Given the description of an element on the screen output the (x, y) to click on. 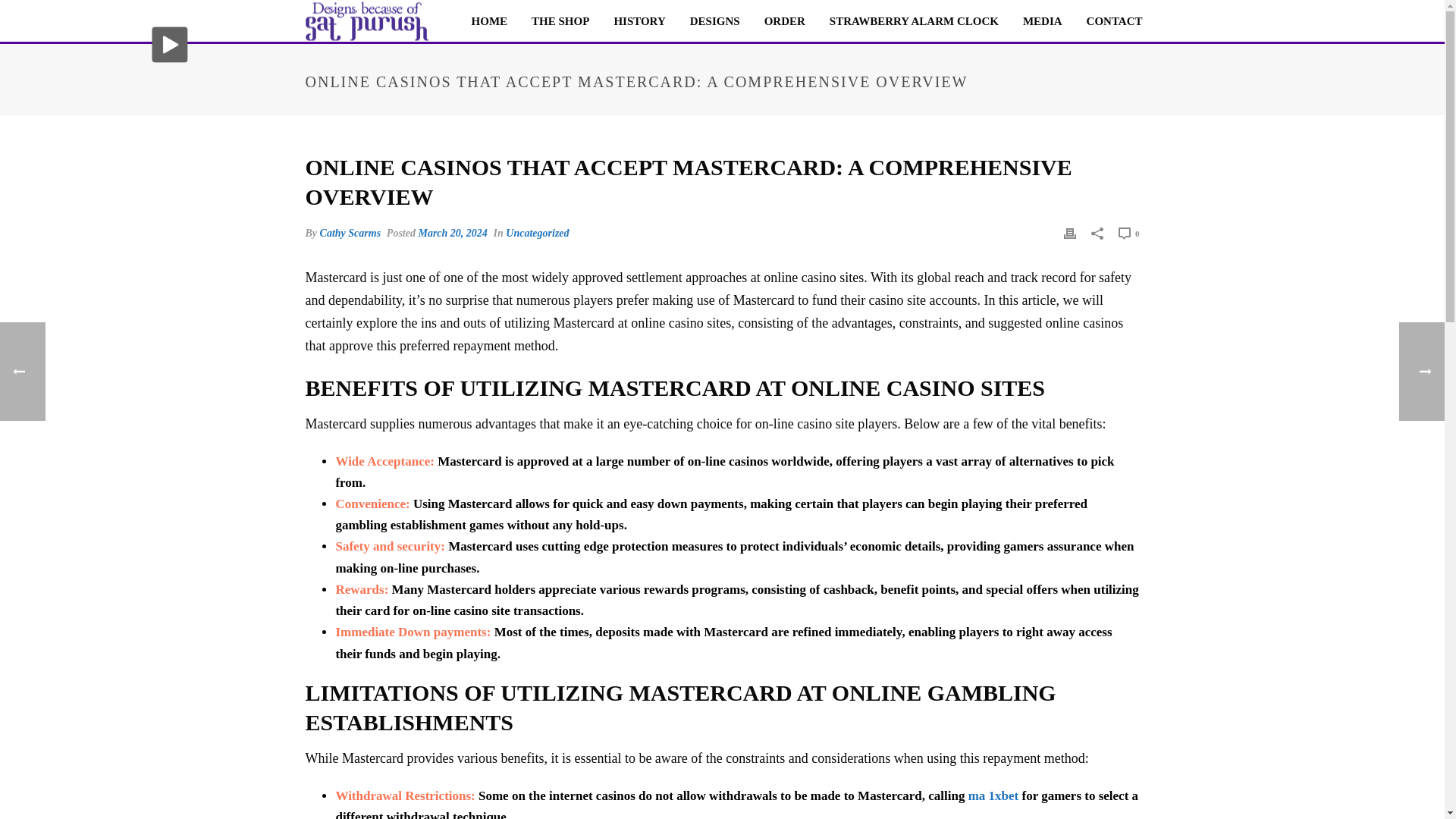
MEDIA (1042, 21)
CONTACT (1114, 21)
THE SHOP (560, 21)
HOME (489, 21)
0 (1128, 232)
Posts by Cathy Scarms (350, 233)
Uncategorized (537, 233)
The Design of SatPurush (366, 20)
DESIGNS (715, 21)
ORDER (784, 21)
